Given the description of an element on the screen output the (x, y) to click on. 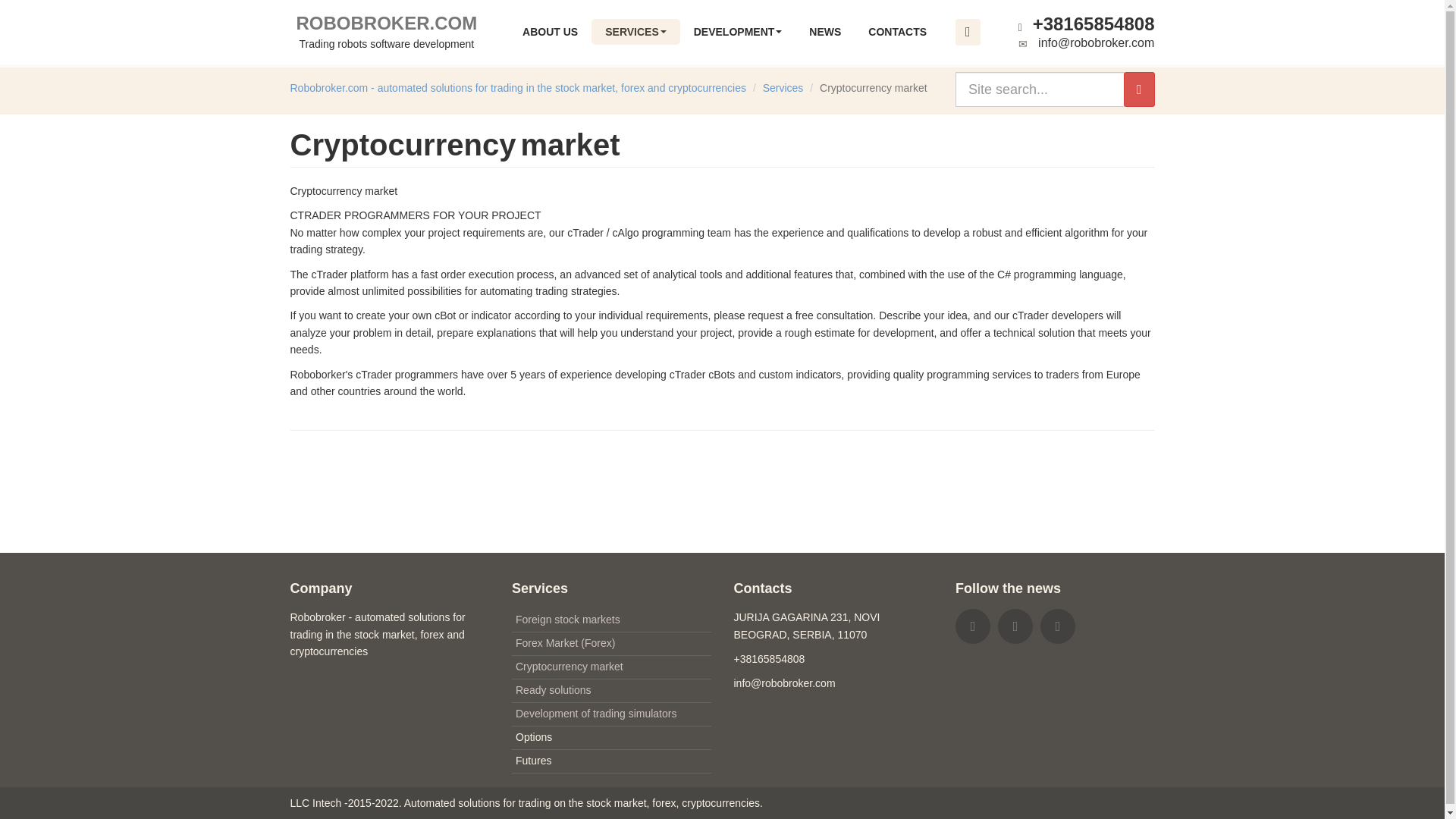
ABOUT US (549, 31)
SERVICES (387, 32)
DEVELOPMENT (635, 31)
NEWS (737, 31)
